Given the description of an element on the screen output the (x, y) to click on. 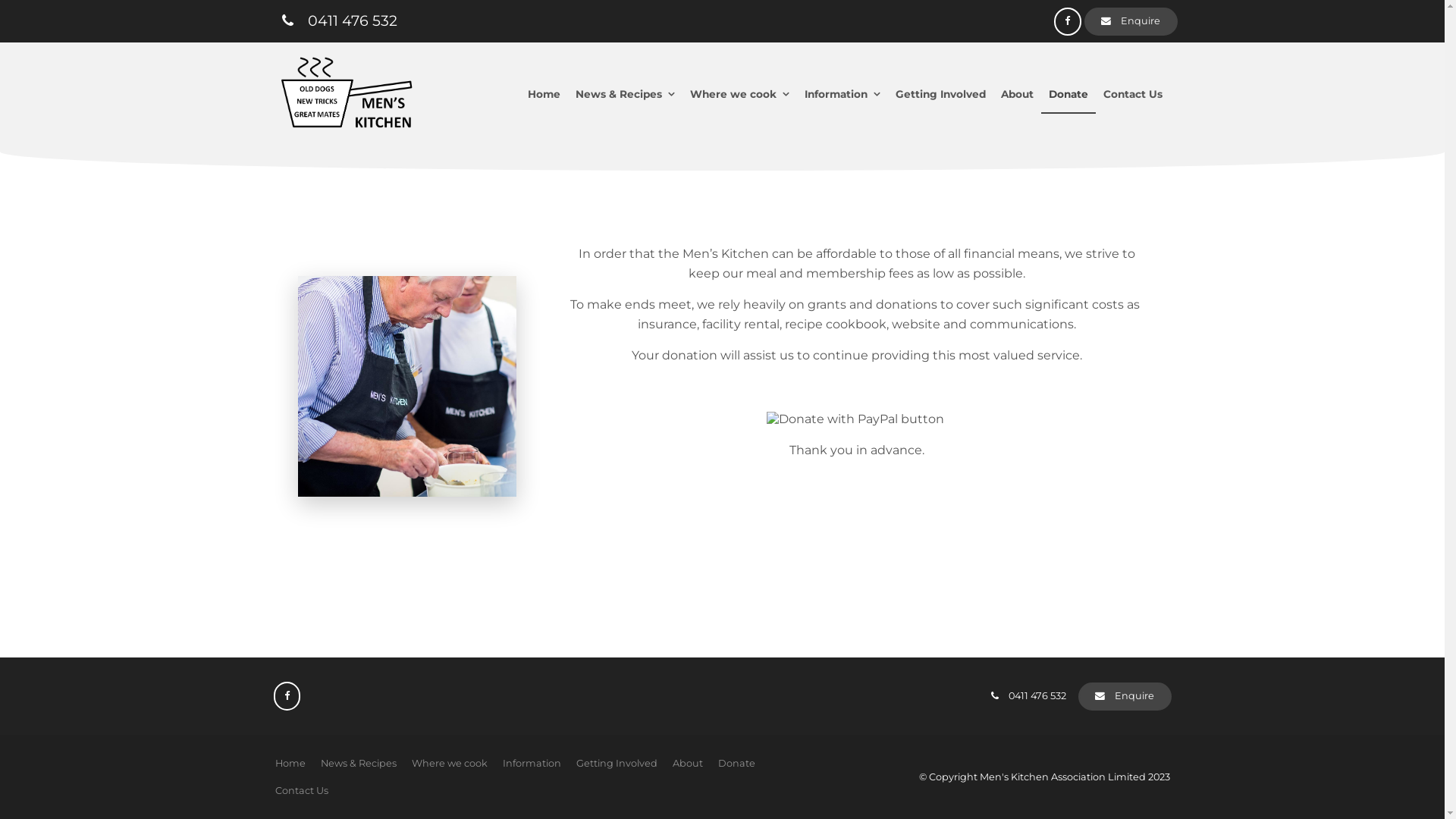
Home Element type: text (289, 763)
Information Element type: text (841, 95)
Getting Involved Element type: text (616, 763)
PayPal - The safer, easier way to pay online! Element type: hover (854, 418)
Contact Us Element type: text (300, 790)
Donate Element type: text (1067, 95)
Where we cook Element type: text (739, 95)
Information Element type: text (530, 763)
News & Recipes Element type: text (357, 763)
Getting Involved Element type: text (939, 95)
About Element type: text (686, 763)
News & Recipes Element type: text (624, 95)
About Element type: text (1017, 95)
Enquire Element type: text (1124, 696)
Donate Element type: text (735, 763)
Enquire Element type: text (1130, 21)
Contact Us Element type: text (1132, 95)
Home Element type: text (543, 95)
Where we cook Element type: text (448, 763)
